Given the description of an element on the screen output the (x, y) to click on. 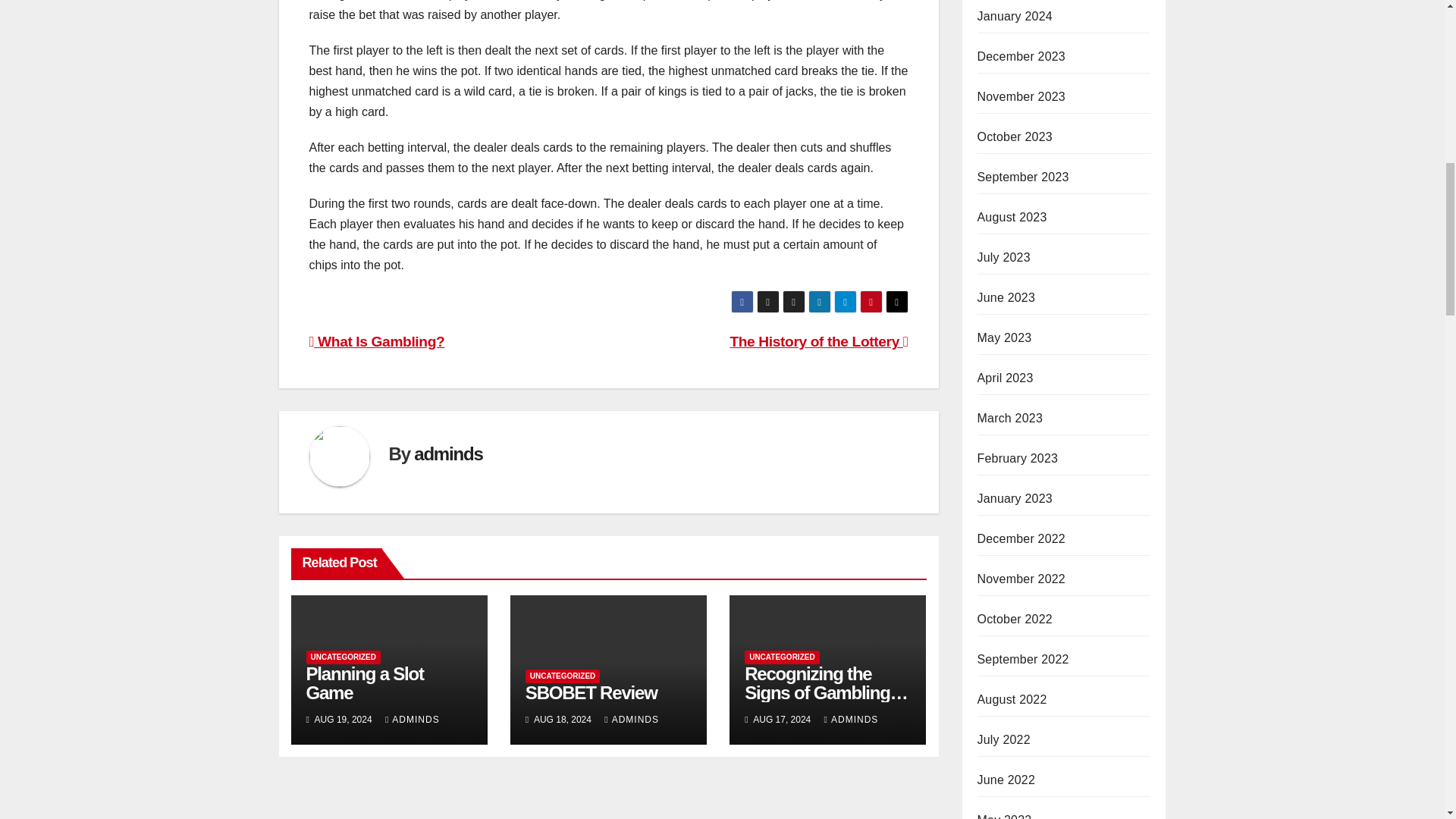
ADMINDS (412, 719)
Planning a Slot Game (364, 682)
Permalink to: Recognizing the Signs of Gambling Addiction (826, 692)
UNCATEGORIZED (781, 657)
ADMINDS (851, 719)
Permalink to: SBOBET Review (591, 692)
SBOBET Review (591, 692)
Permalink to: Planning a Slot Game (364, 682)
UNCATEGORIZED (342, 657)
What Is Gambling? (376, 341)
